Given the description of an element on the screen output the (x, y) to click on. 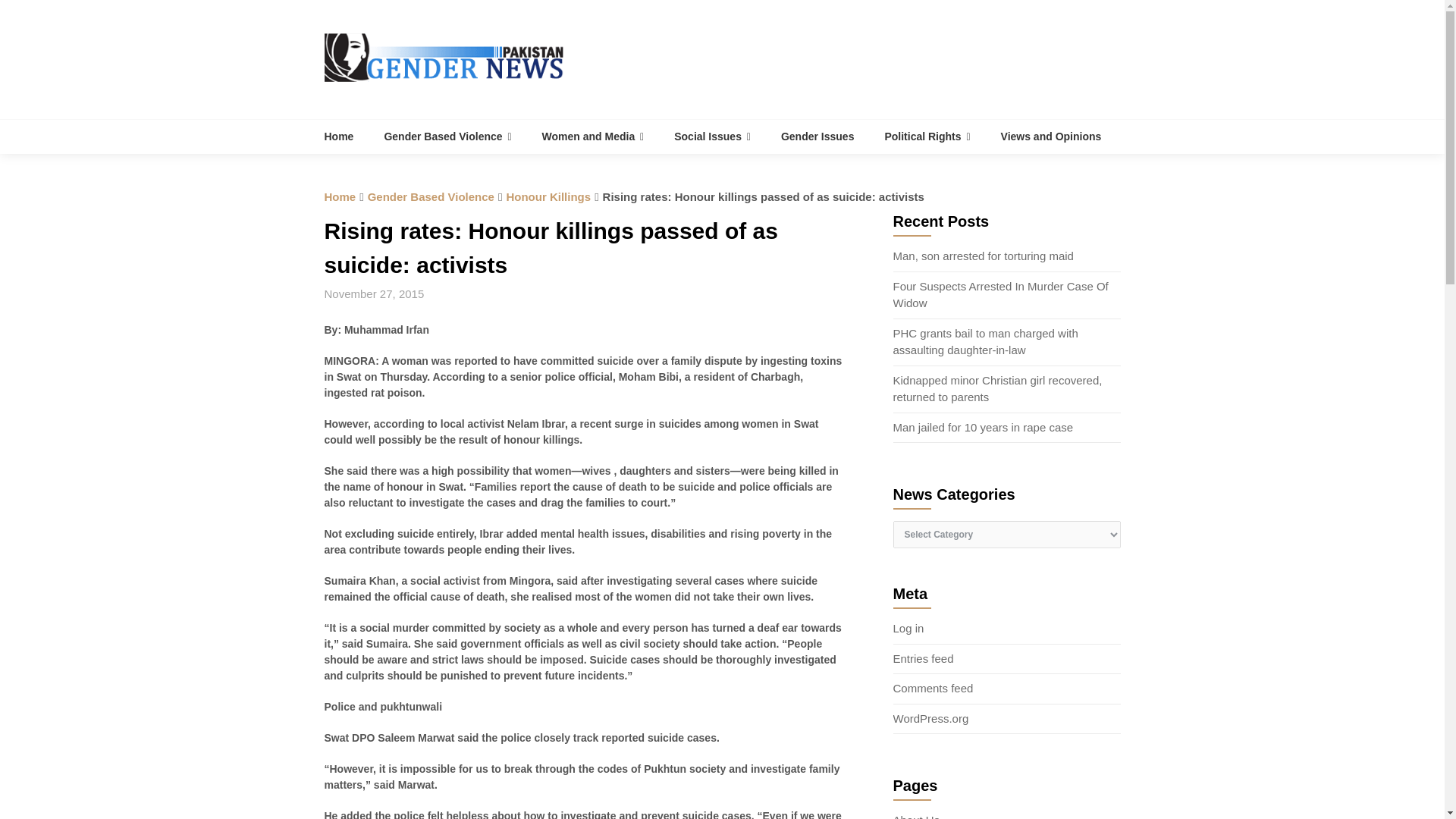
Gender Issues (817, 136)
Gender Based Violence (446, 136)
Home (346, 136)
Comments feed (933, 687)
Pakistan Gender News (346, 136)
Honour Killings (548, 196)
Gender Based Violence (431, 196)
Social Issues (712, 136)
Entries feed (923, 658)
WordPress.org (931, 717)
Log in (908, 627)
Man jailed for 10 years in rape case (983, 427)
Social Issues (712, 136)
Views and Opinions (1050, 136)
Gender Issues (817, 136)
